Given the description of an element on the screen output the (x, y) to click on. 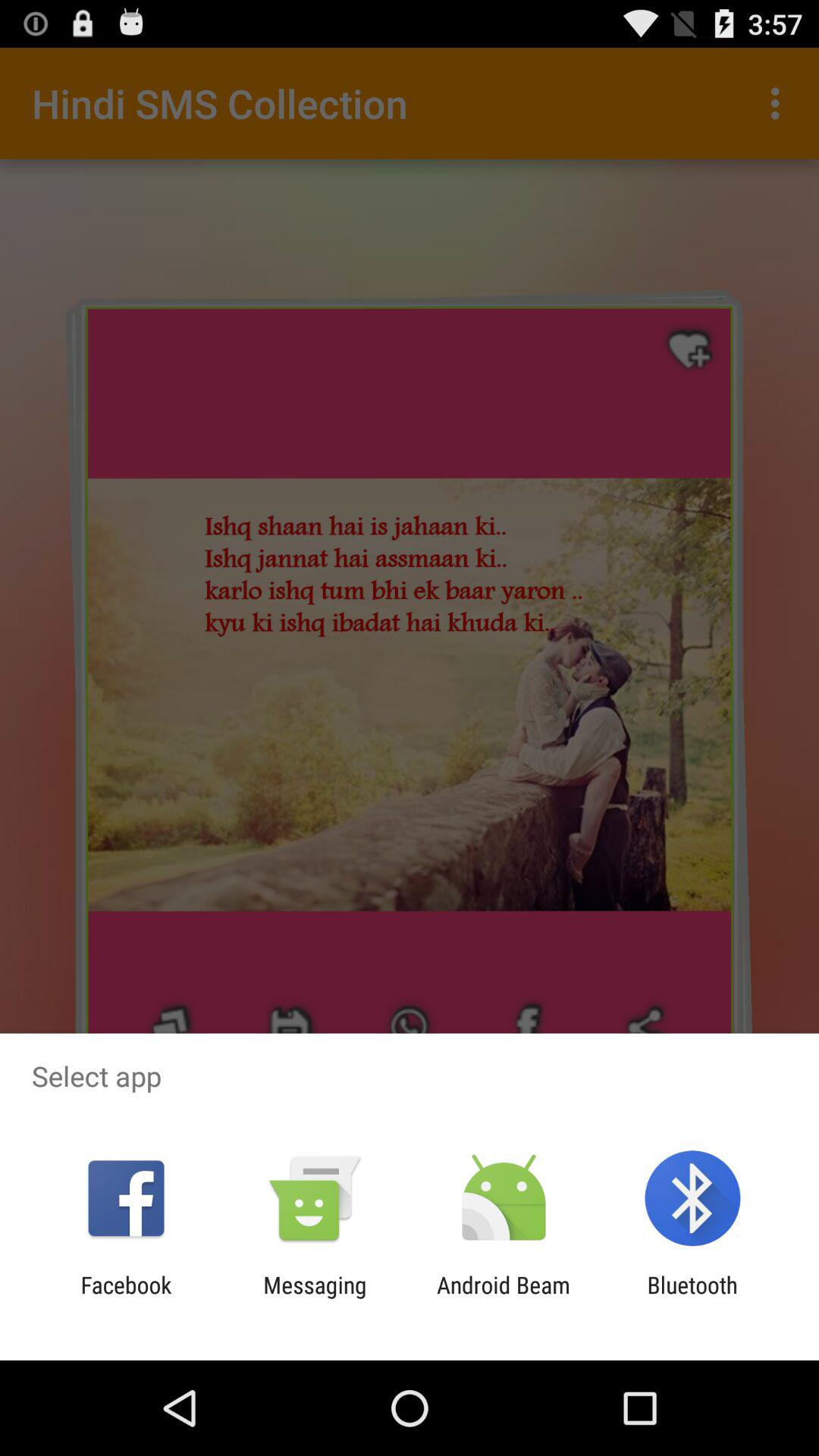
launch the app to the right of the facebook app (314, 1298)
